Given the description of an element on the screen output the (x, y) to click on. 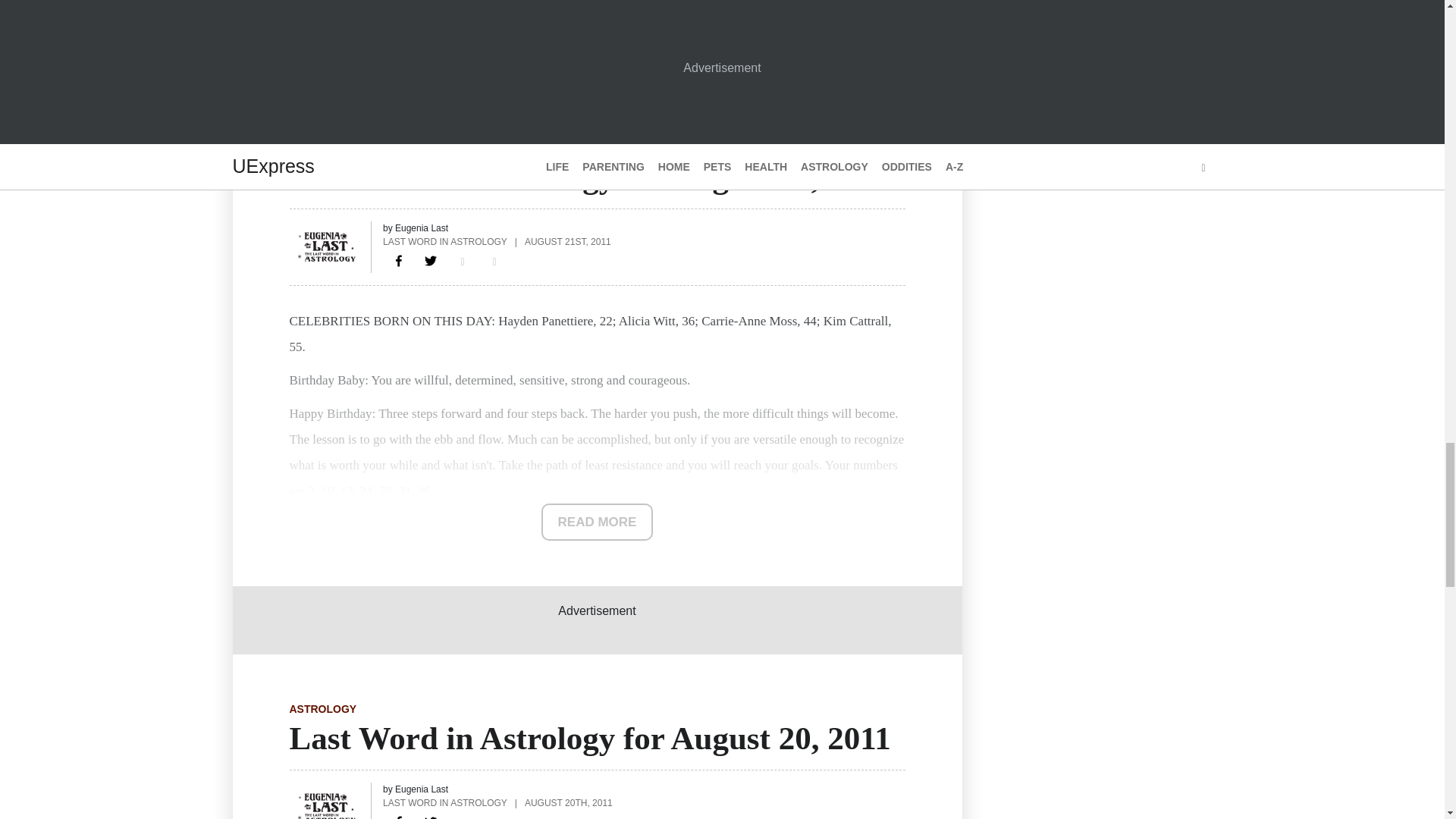
ASTROLOGY (322, 147)
READ MORE (597, 522)
LAST WORD IN ASTROLOGY (444, 802)
ASTROLOGY (322, 708)
LAST WORD IN ASTROLOGY (444, 241)
Last Word in Astrology for August 20, 2011 (398, 814)
Last Word in Astrology for August 21, 2011 (398, 260)
